Given the description of an element on the screen output the (x, y) to click on. 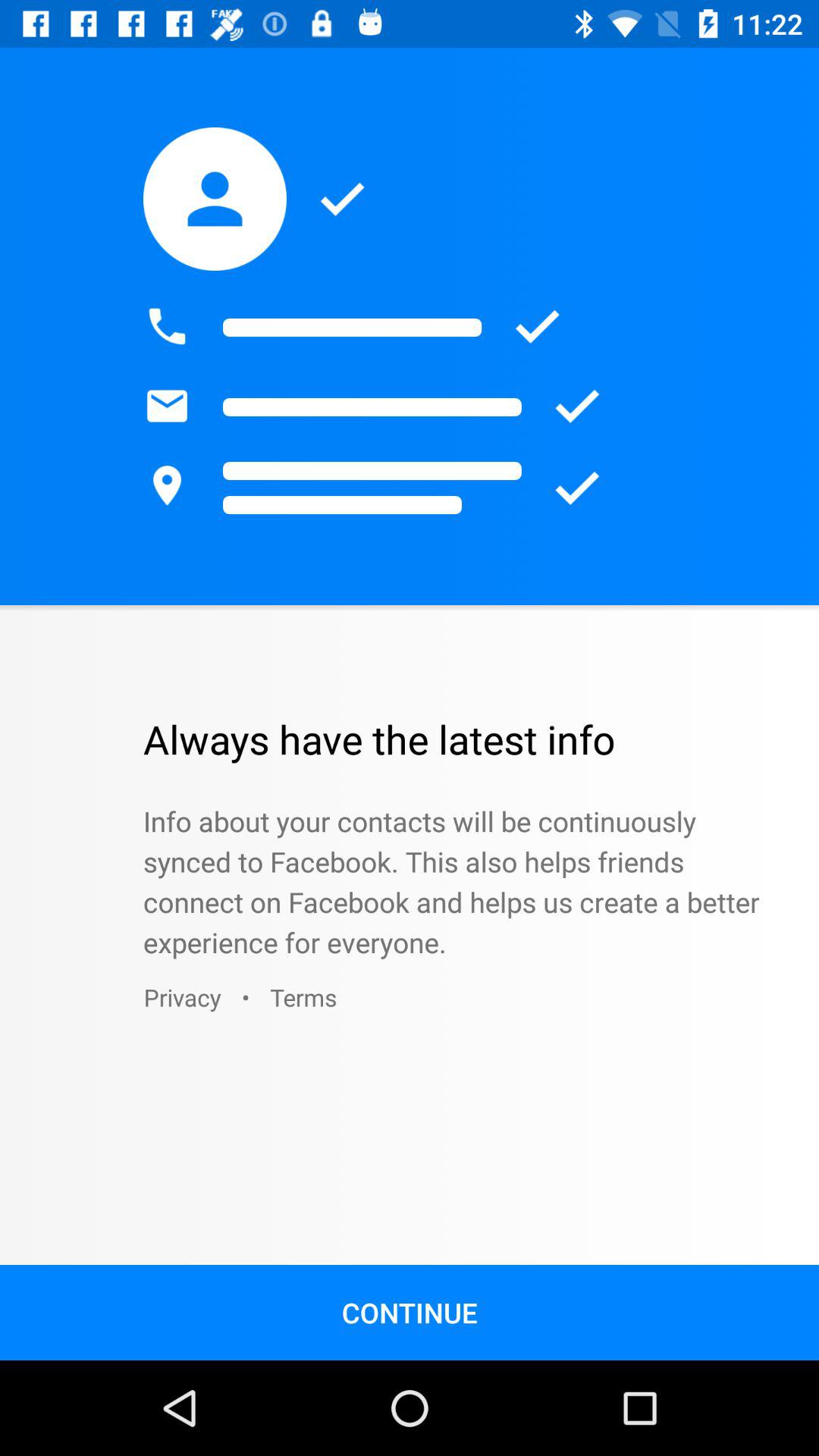
click icon below the info about your icon (182, 997)
